Given the description of an element on the screen output the (x, y) to click on. 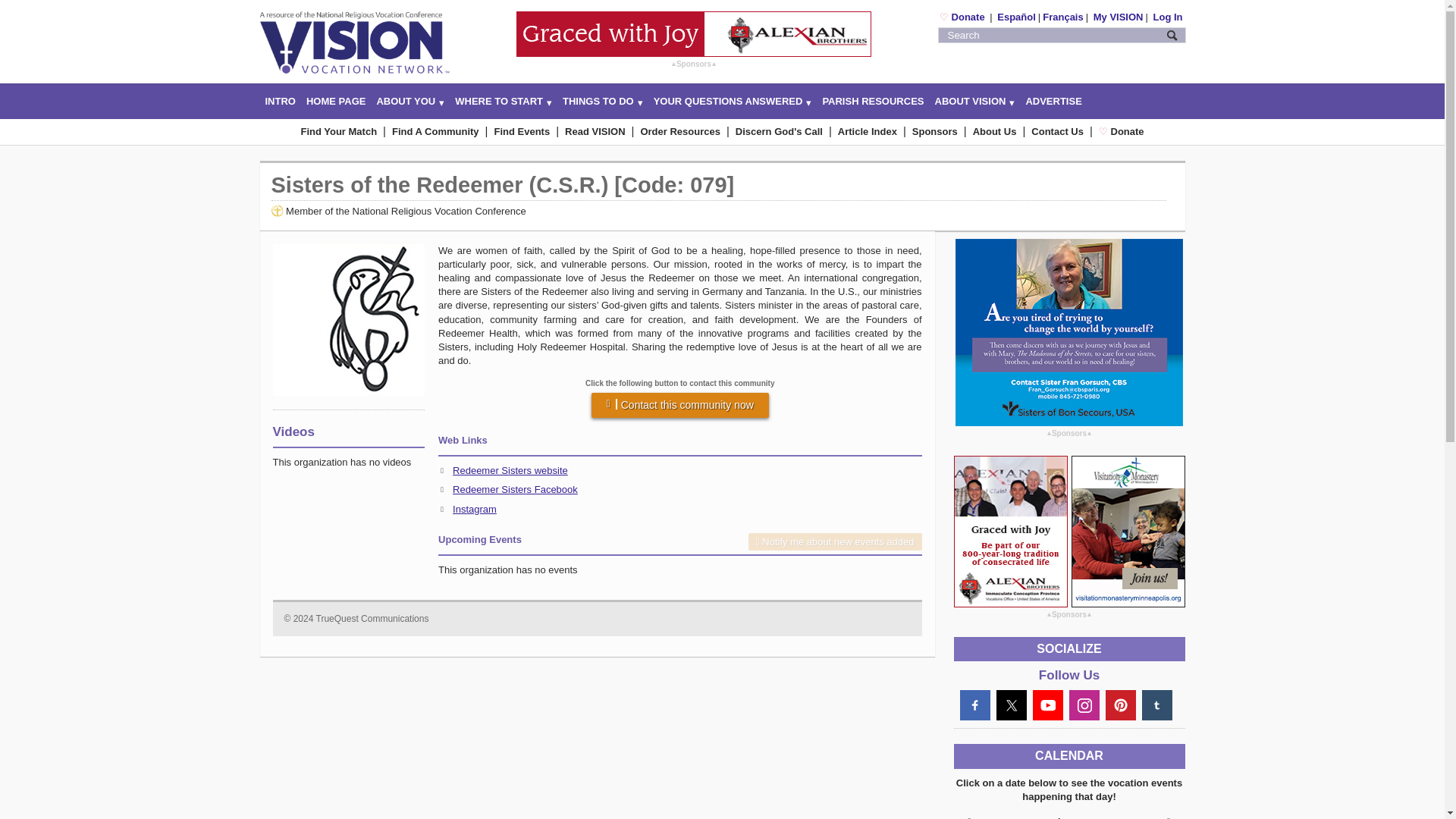
Alexian Brothers (693, 33)
Search (1171, 34)
Select Month (1069, 815)
Search (1171, 34)
